Given the description of an element on the screen output the (x, y) to click on. 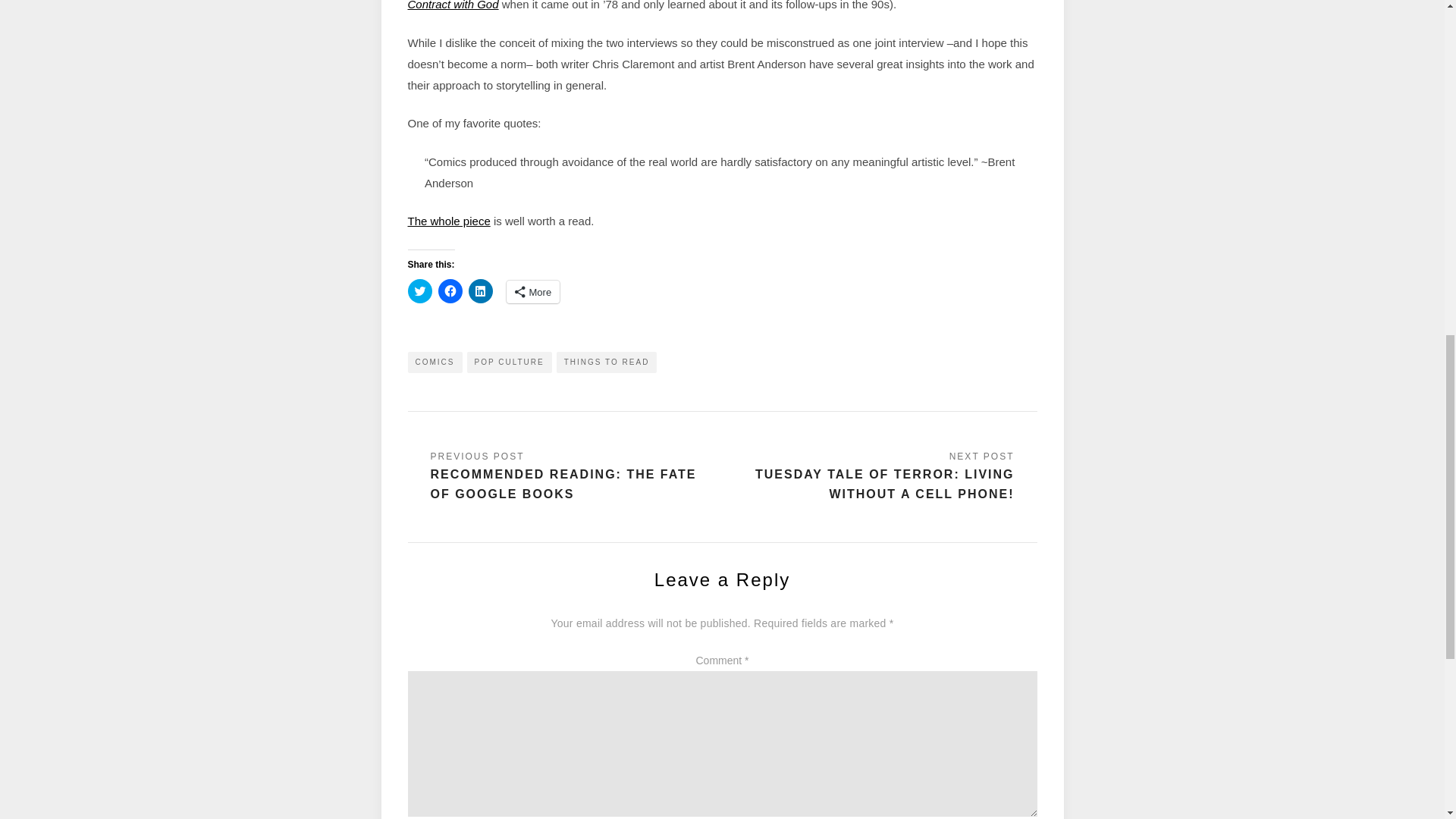
The whole piece (448, 220)
POP CULTURE (509, 362)
TUESDAY TALE OF TERROR: LIVING WITHOUT A CELL PHONE! (877, 476)
COMICS (435, 362)
RECOMMENDED READING: THE FATE OF GOOGLE BOOKS (566, 476)
A Contract with God (716, 5)
More (533, 291)
Click to share on Facebook (450, 291)
Click to share on Twitter (419, 291)
THINGS TO READ (607, 362)
